Given the description of an element on the screen output the (x, y) to click on. 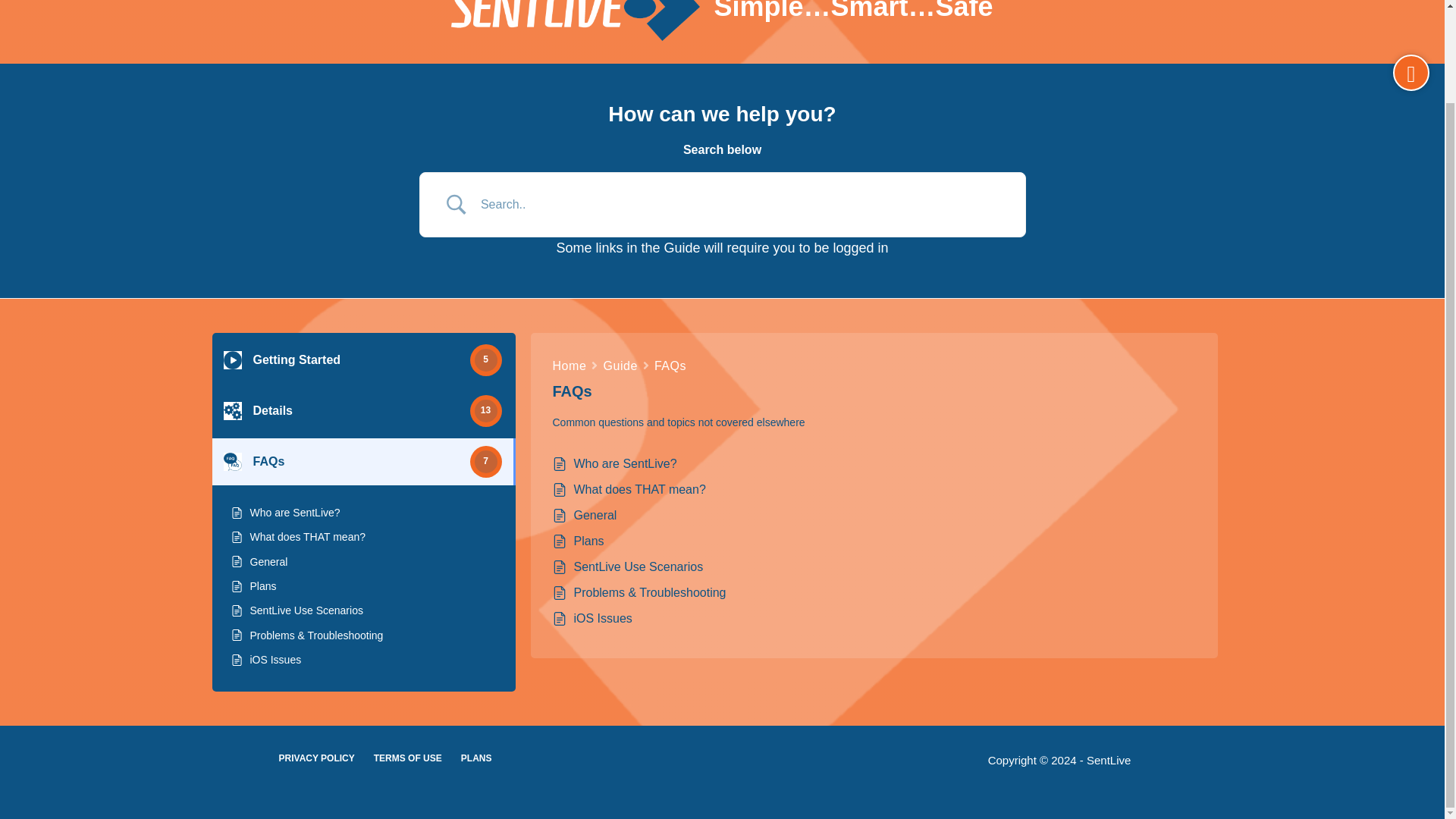
Who are SentLive? (295, 512)
FAQs (669, 365)
Home (568, 365)
Guide (619, 365)
